Given the description of an element on the screen output the (x, y) to click on. 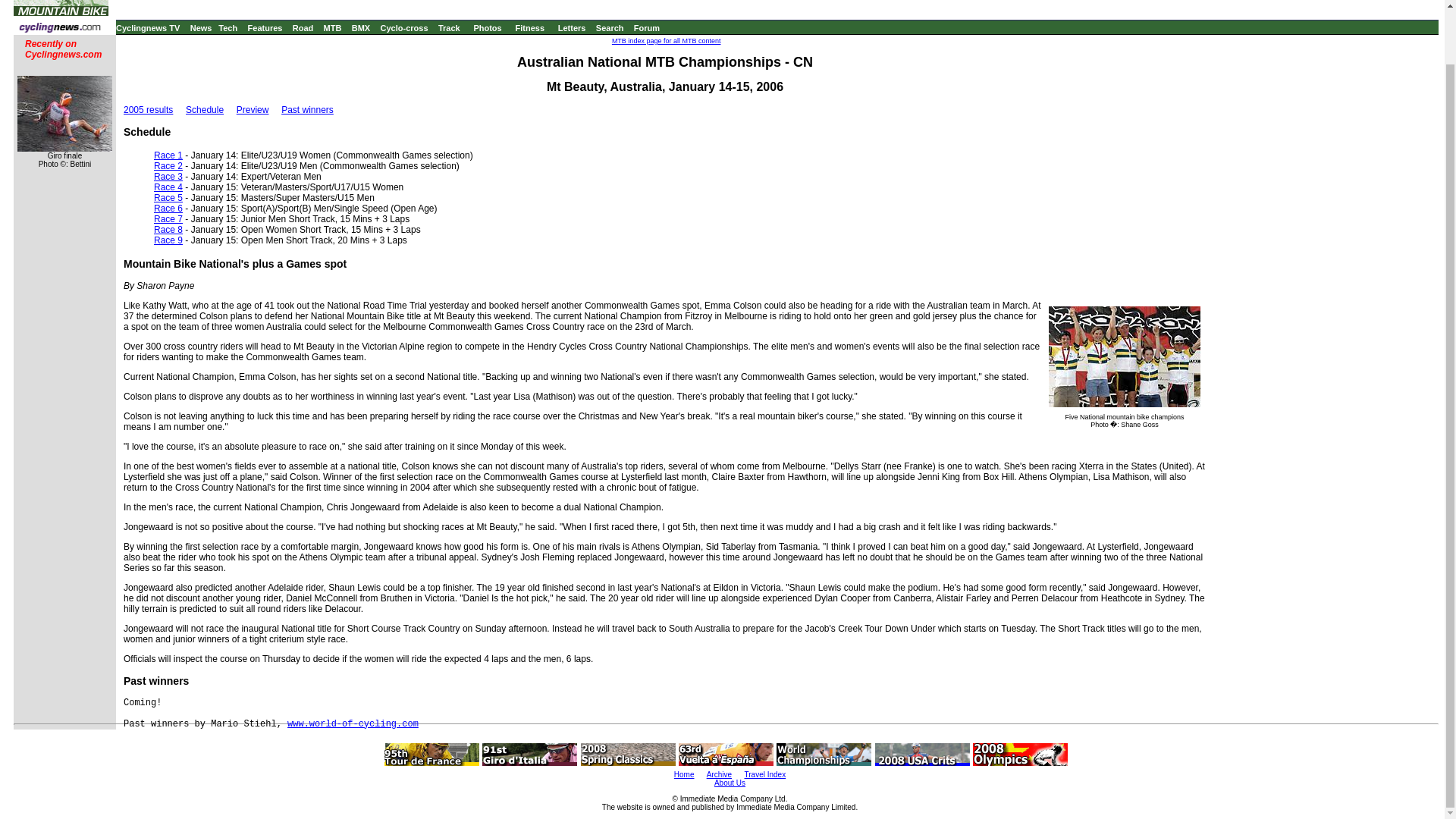
MTB index page for all MTB content (665, 40)
Road (303, 27)
Preview (252, 109)
Search (609, 27)
Cyclo-cross (404, 27)
Past winners (307, 109)
Forum (646, 27)
3rd party ad content (776, 7)
Race 4 (168, 186)
Race 5 (168, 197)
3rd party ad content (1321, 600)
Photos (486, 27)
Race 2 (168, 165)
Race 6 (168, 208)
Features (264, 27)
